Given the description of an element on the screen output the (x, y) to click on. 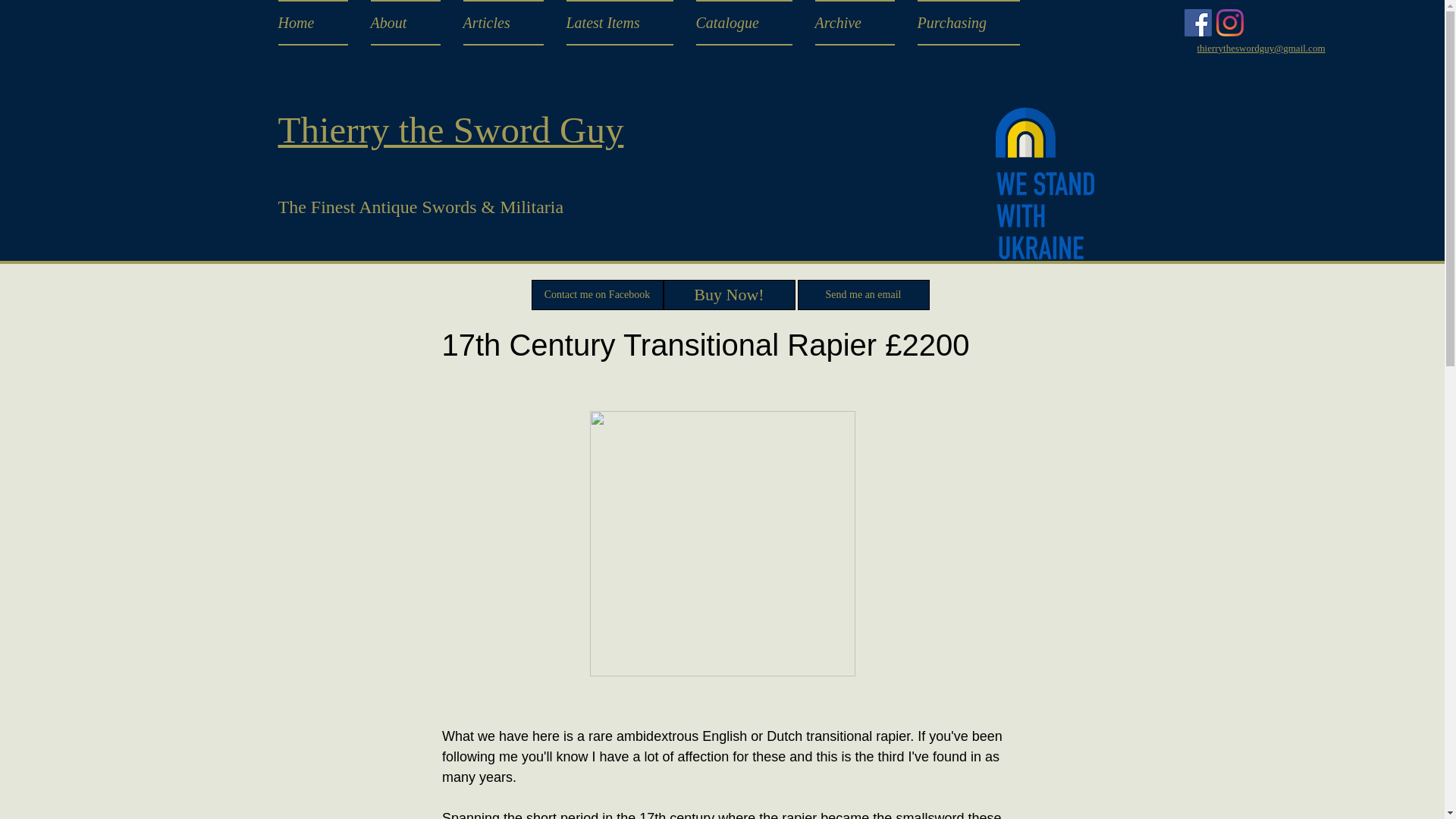
Archive (854, 22)
Contact me on Facebook (596, 295)
Purchasing (962, 22)
Articles (502, 22)
About (405, 22)
Home (318, 22)
Send me an email (863, 295)
Buy Now! (728, 295)
Catalogue (743, 22)
Latest Items (619, 22)
